Given the description of an element on the screen output the (x, y) to click on. 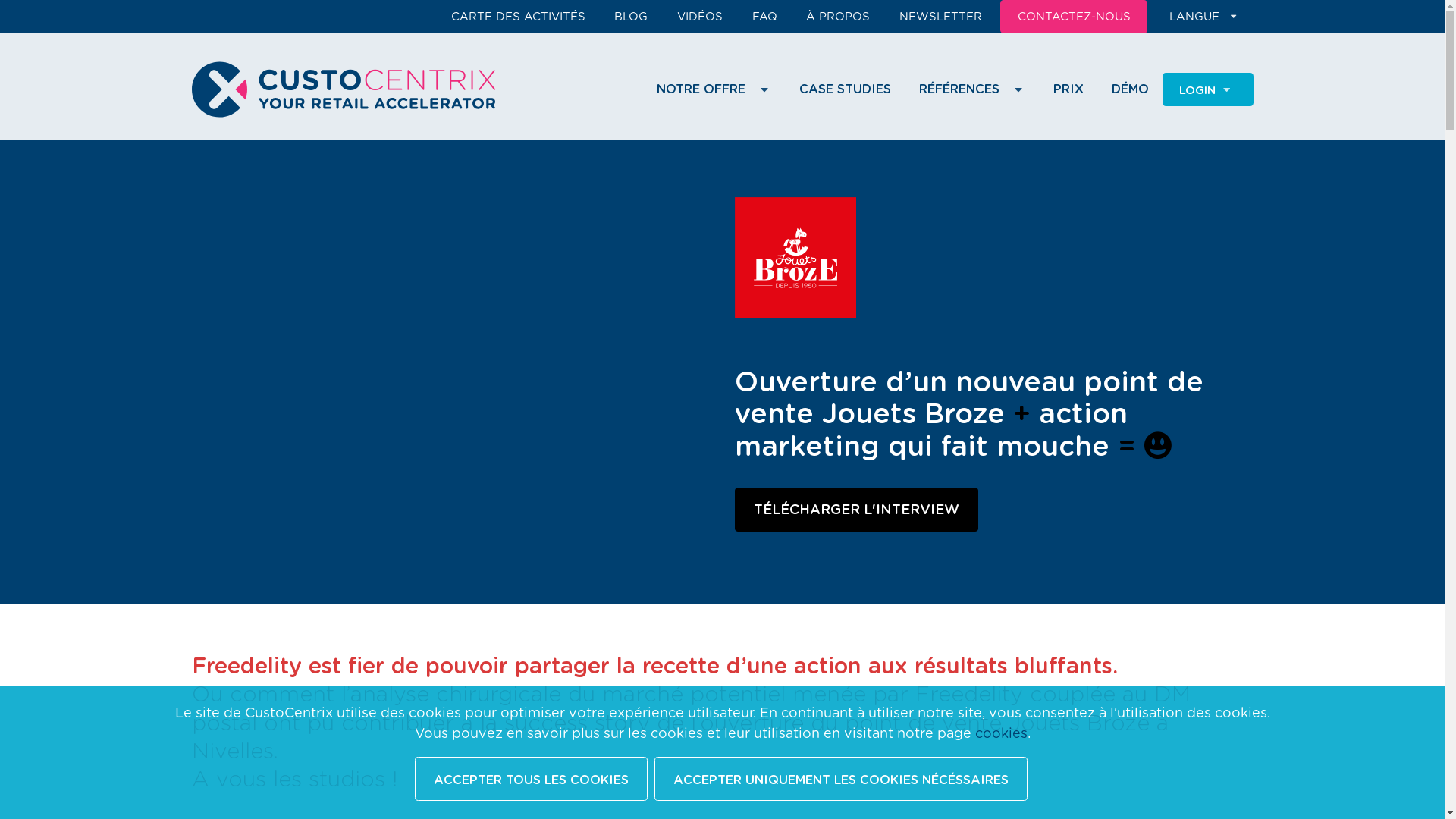
cookies Element type: text (1001, 733)
NEWSLETTER Element type: text (940, 16)
NOTRE OFFRE Element type: text (713, 89)
FAQ Element type: text (764, 16)
CONTACTEZ-NOUS Element type: text (1075, 16)
ACCEPTER TOUS LES COOKIES Element type: text (530, 778)
BLOG Element type: text (631, 16)
PRIX Element type: text (1068, 89)
CASE STUDIES Element type: text (845, 89)
